Given the description of an element on the screen output the (x, y) to click on. 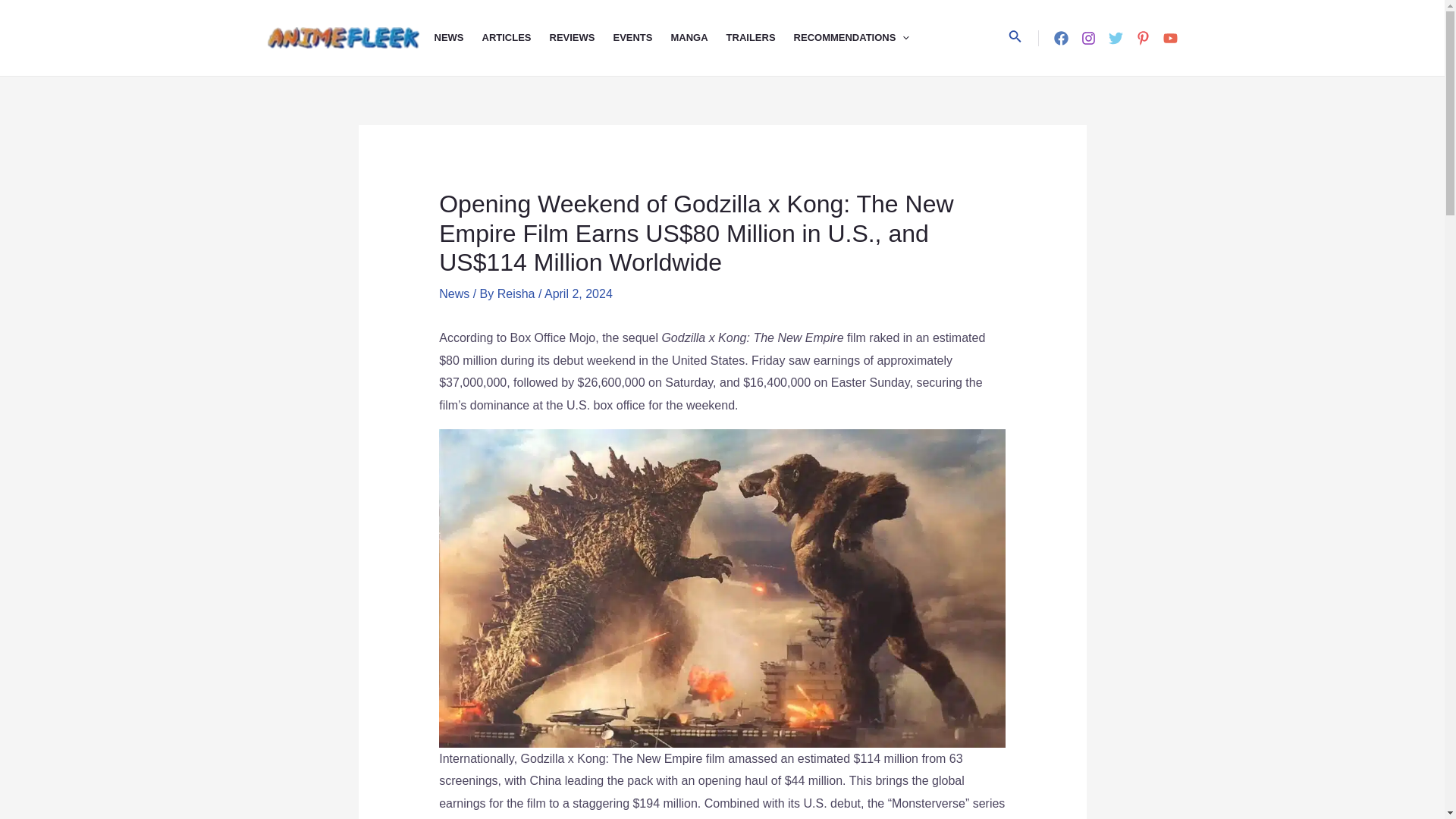
MANGA (697, 38)
TRAILERS (759, 38)
Search (1015, 37)
News (453, 293)
REVIEWS (580, 38)
NEWS (457, 38)
ARTICLES (515, 38)
RECOMMENDATIONS (860, 38)
Reisha (517, 293)
View all posts by Reisha (517, 293)
EVENTS (640, 38)
